Given the description of an element on the screen output the (x, y) to click on. 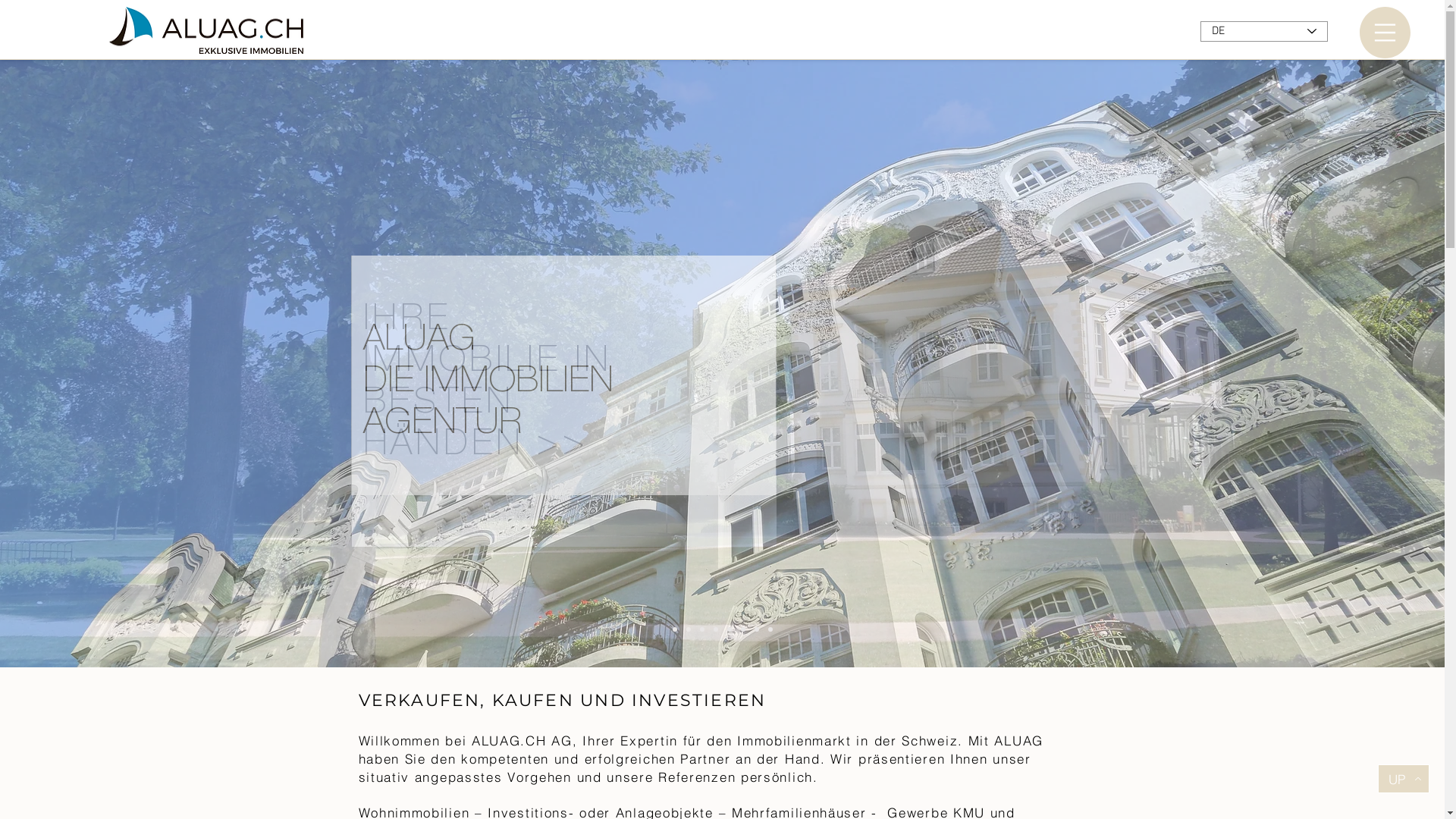
UP Element type: text (1403, 778)
